Given the description of an element on the screen output the (x, y) to click on. 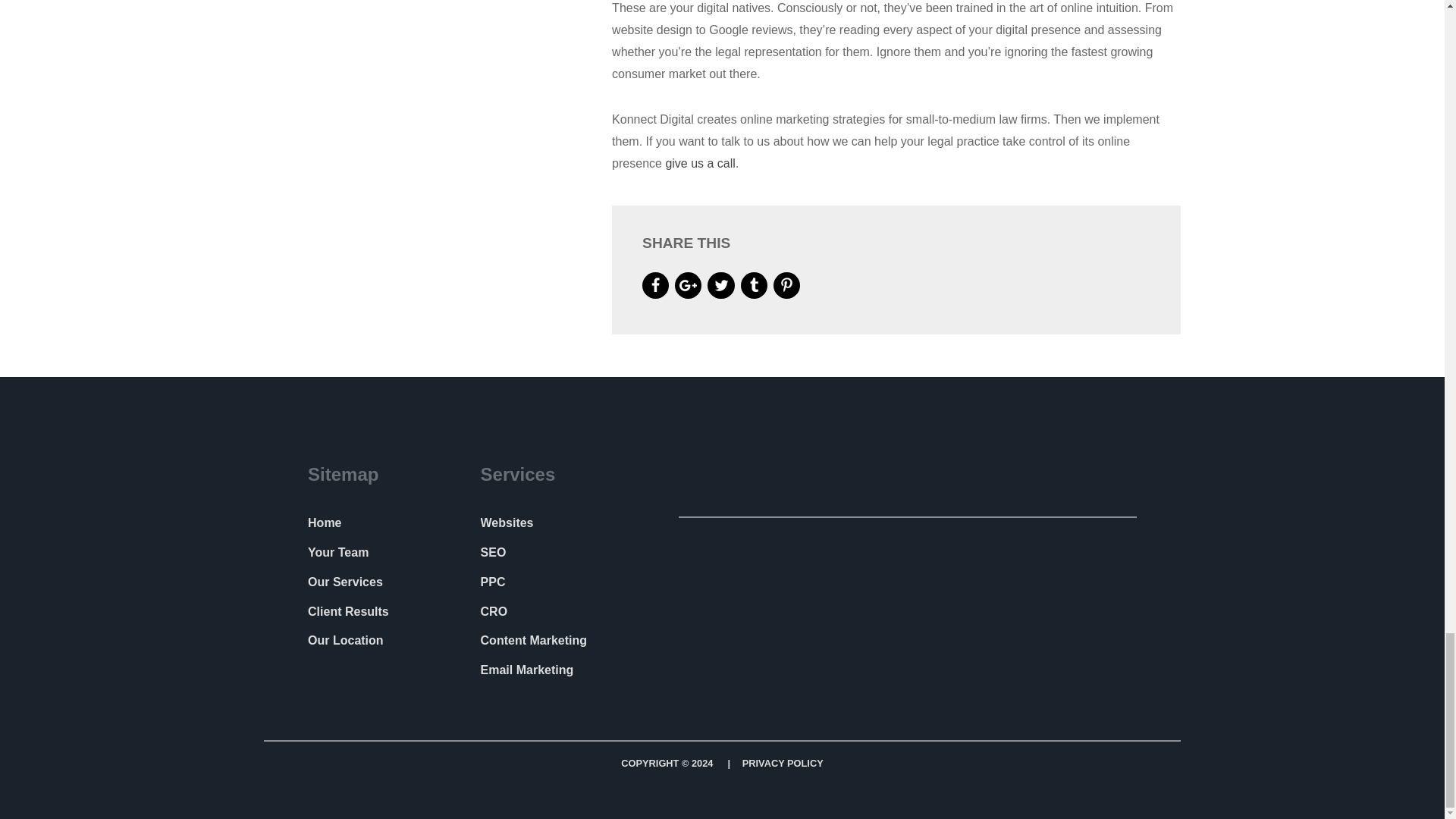
Sitemap (347, 474)
Content Marketing (533, 640)
Your Team (337, 552)
PPC (492, 581)
Home (323, 522)
Email Marketing (526, 669)
Websites (507, 522)
Client Results (347, 611)
CRO (494, 611)
Our Services (344, 581)
SEO (493, 552)
Our Location (345, 640)
give us a call (700, 163)
